Given the description of an element on the screen output the (x, y) to click on. 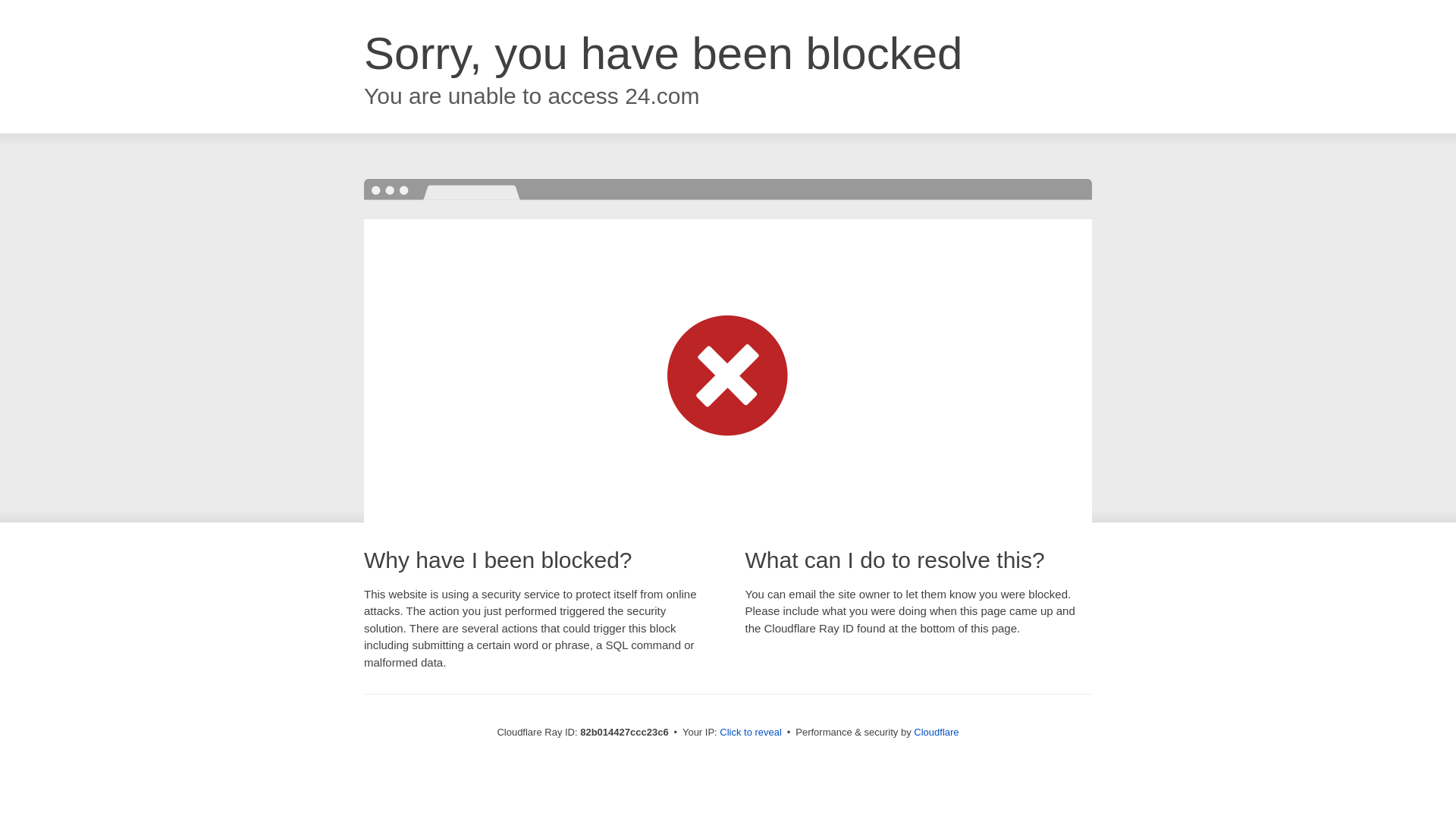
Click to reveal Element type: text (750, 732)
Cloudflare Element type: text (935, 731)
